Given the description of an element on the screen output the (x, y) to click on. 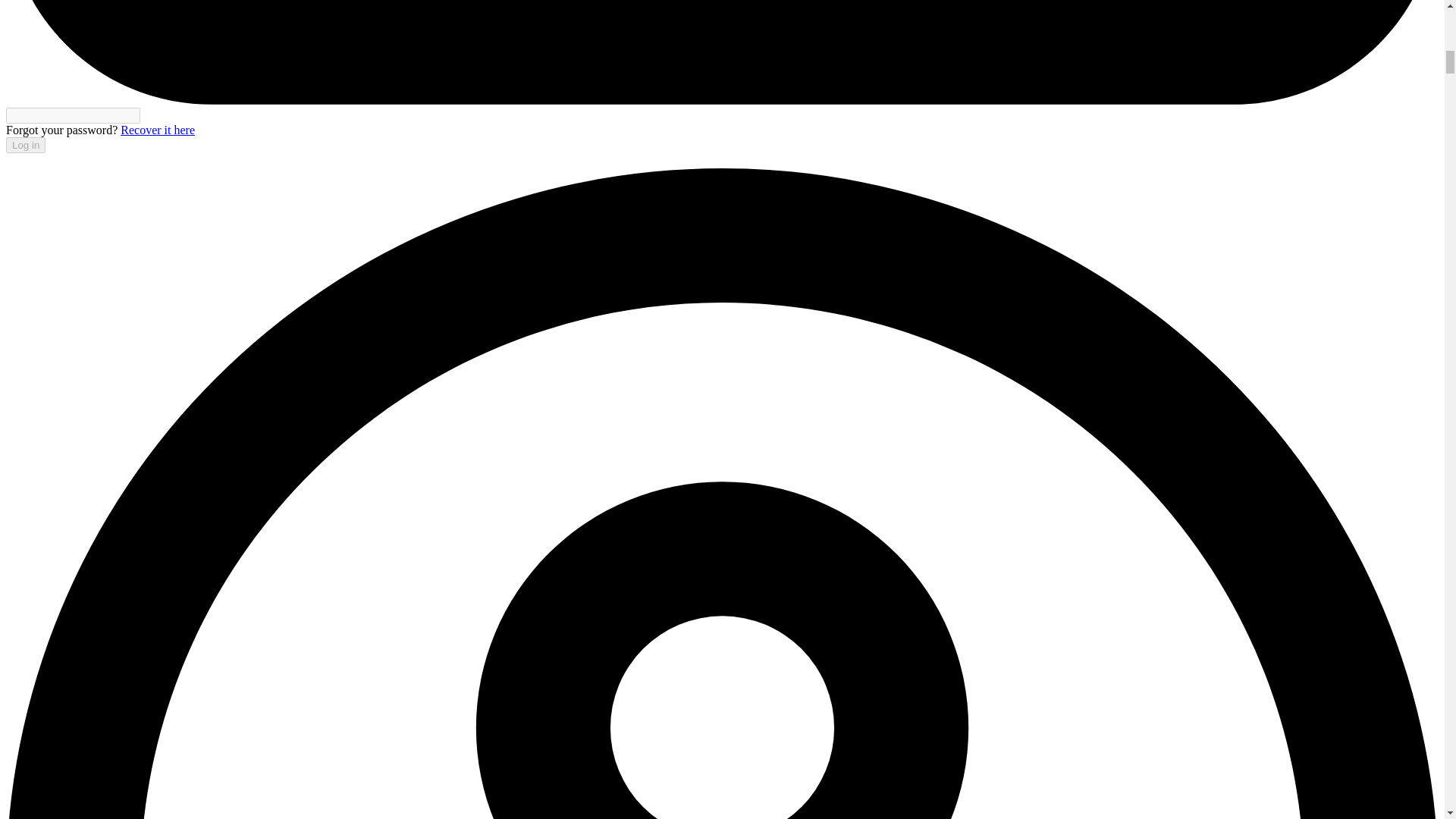
Recover it here (157, 129)
Log in (25, 145)
